Given the description of an element on the screen output the (x, y) to click on. 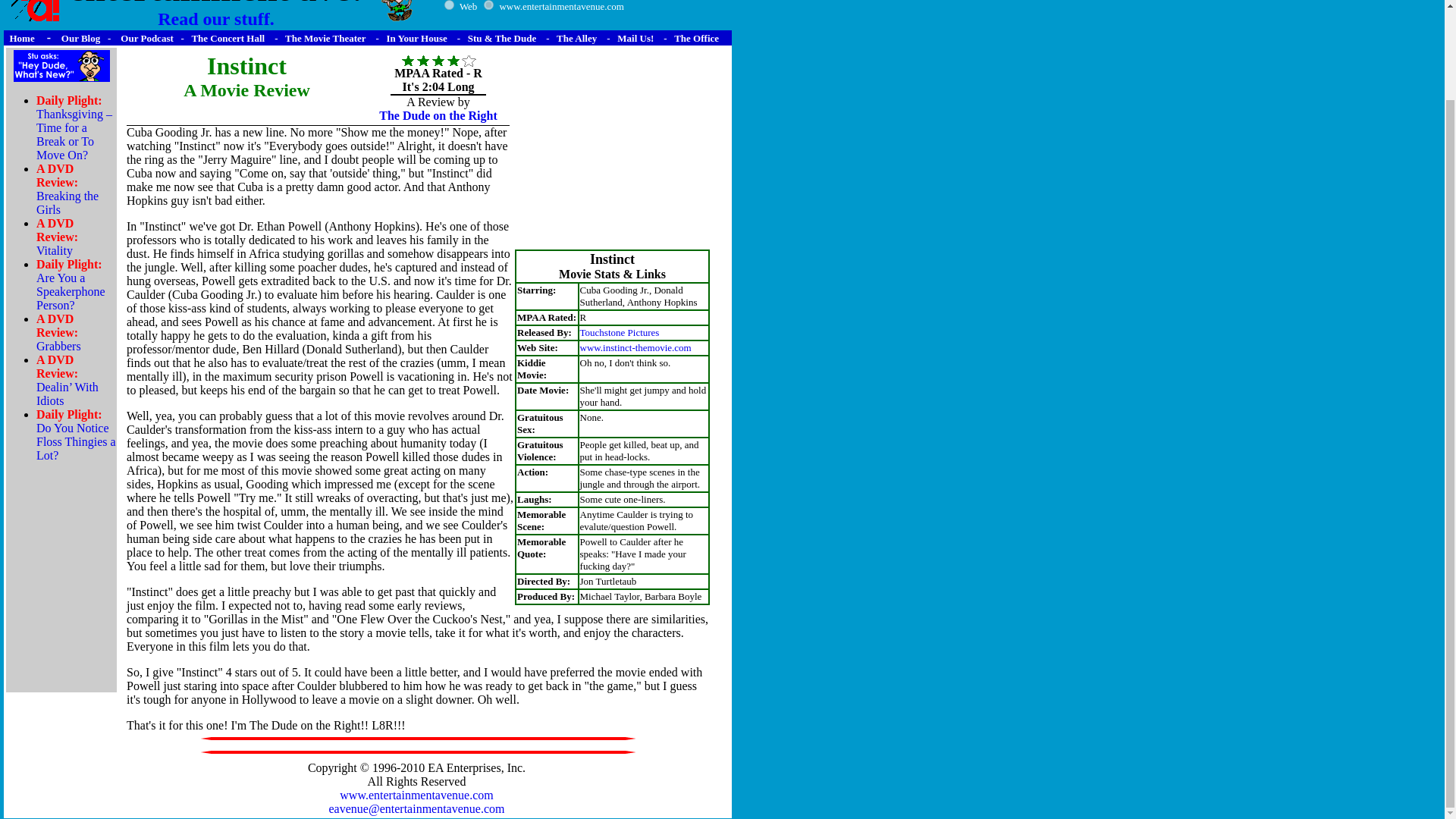
Our Blog (80, 38)
Search www.entertainmentavenue.com (561, 6)
Search the Web (468, 6)
In Your House (416, 38)
www.entertainmentavenue.com (416, 794)
The Dude on the Right (437, 115)
The Concert Hall (227, 38)
  Our Podcast (144, 38)
Touchstone Pictures (619, 331)
The Office (696, 38)
The Alley (576, 38)
Home (20, 38)
The Movie Theater (215, 13)
Mail Us! (325, 38)
